Given the description of an element on the screen output the (x, y) to click on. 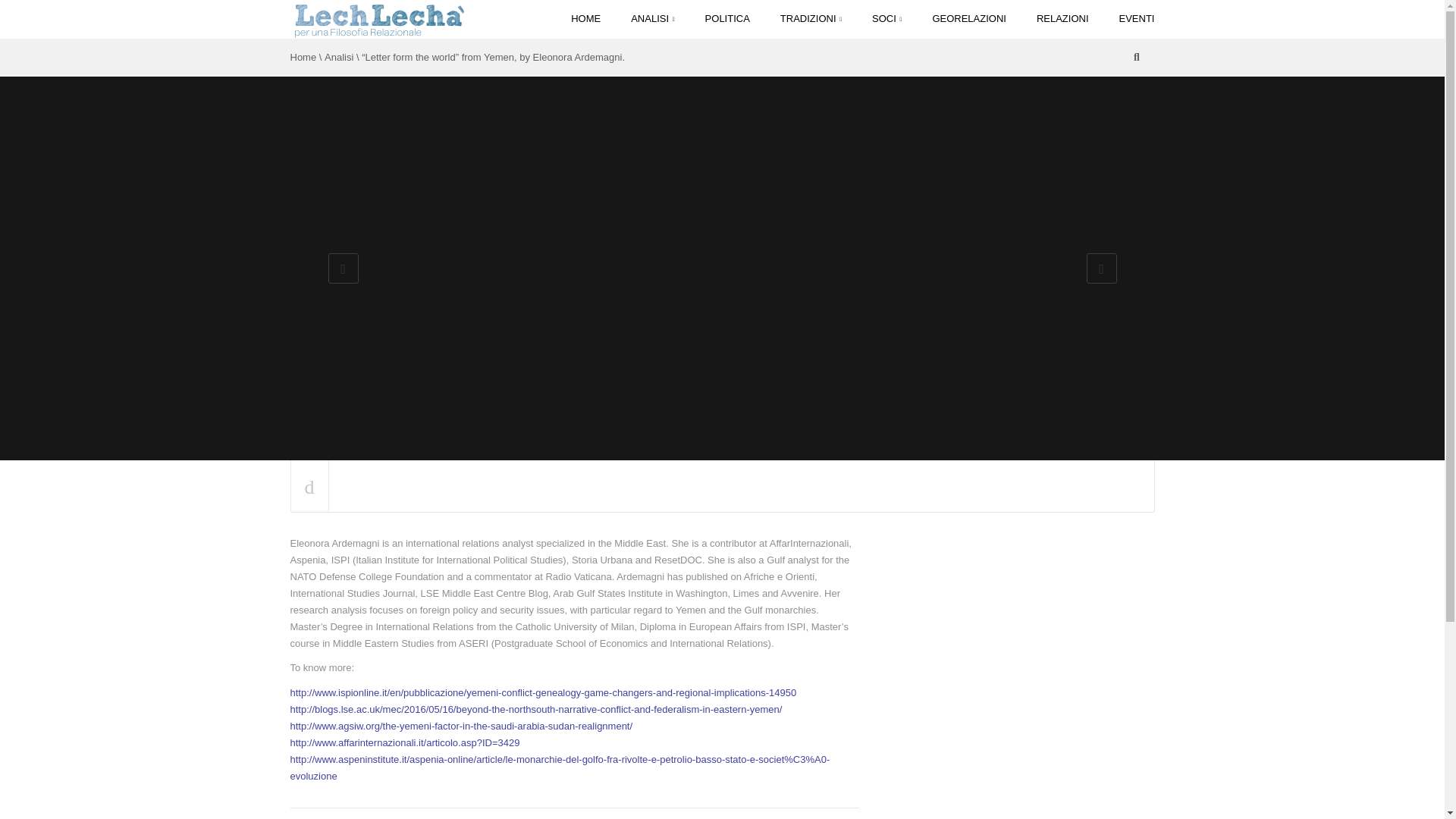
TRADIZIONI (811, 18)
HOME (585, 18)
POLITICA (727, 18)
Analisi (338, 57)
GEORELAZIONI (969, 18)
Home (302, 57)
RELAZIONI (1062, 18)
ANALISI (651, 18)
SOCI (887, 18)
EVENTI (1128, 18)
